Given the description of an element on the screen output the (x, y) to click on. 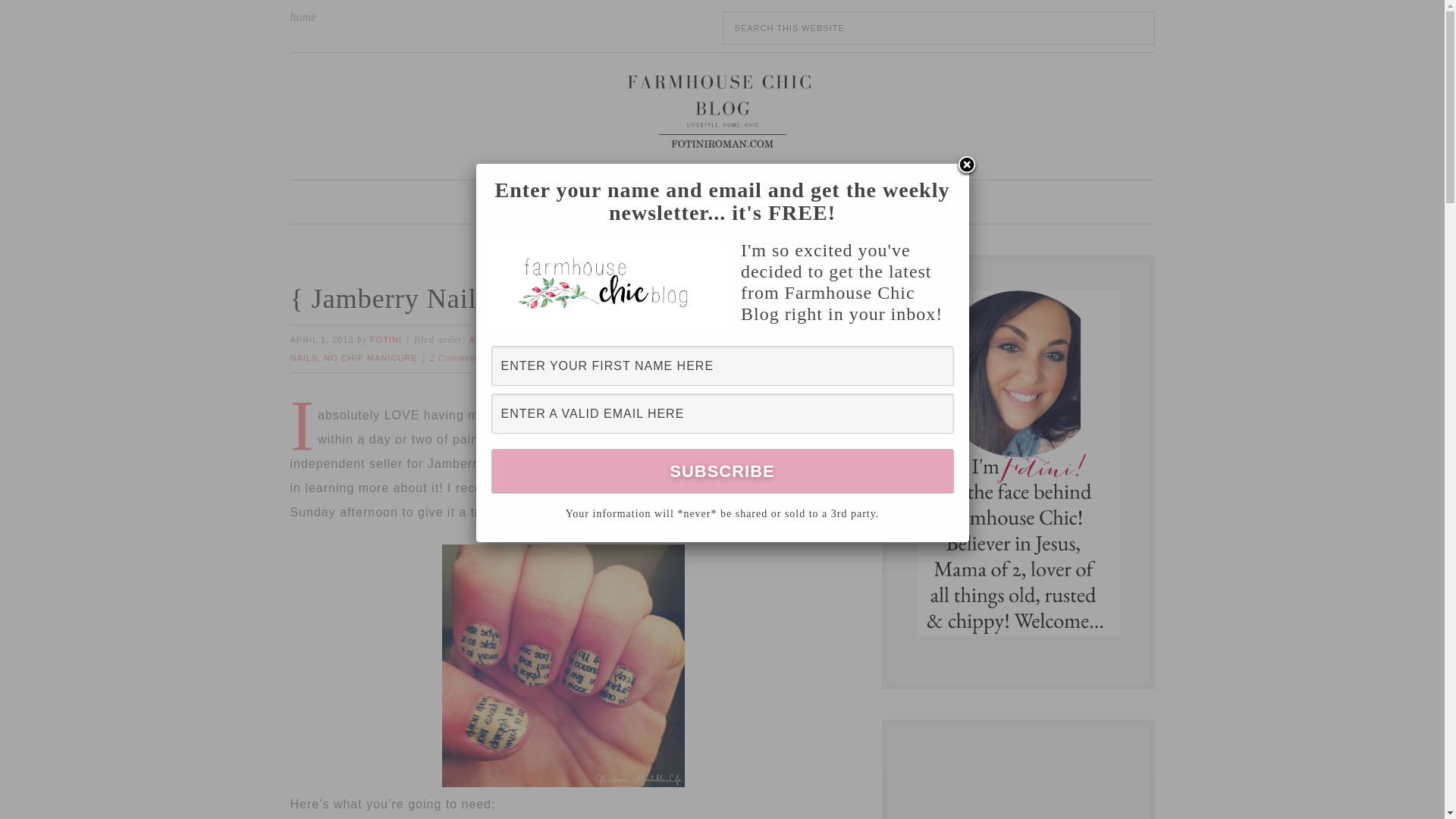
Close (966, 165)
Farmhouse Chic Blog (721, 110)
Featured On (781, 201)
2 Comments (456, 357)
Home (563, 201)
Media Kit (869, 201)
MANICURE (742, 338)
NEWSPAPER NAILS (560, 348)
About Me (635, 201)
Subscribe (722, 470)
JAMBERRY (597, 338)
AT HOME MANICURE (517, 338)
Subscribe (722, 470)
JAMBERRY NAILS (669, 338)
